Given the description of an element on the screen output the (x, y) to click on. 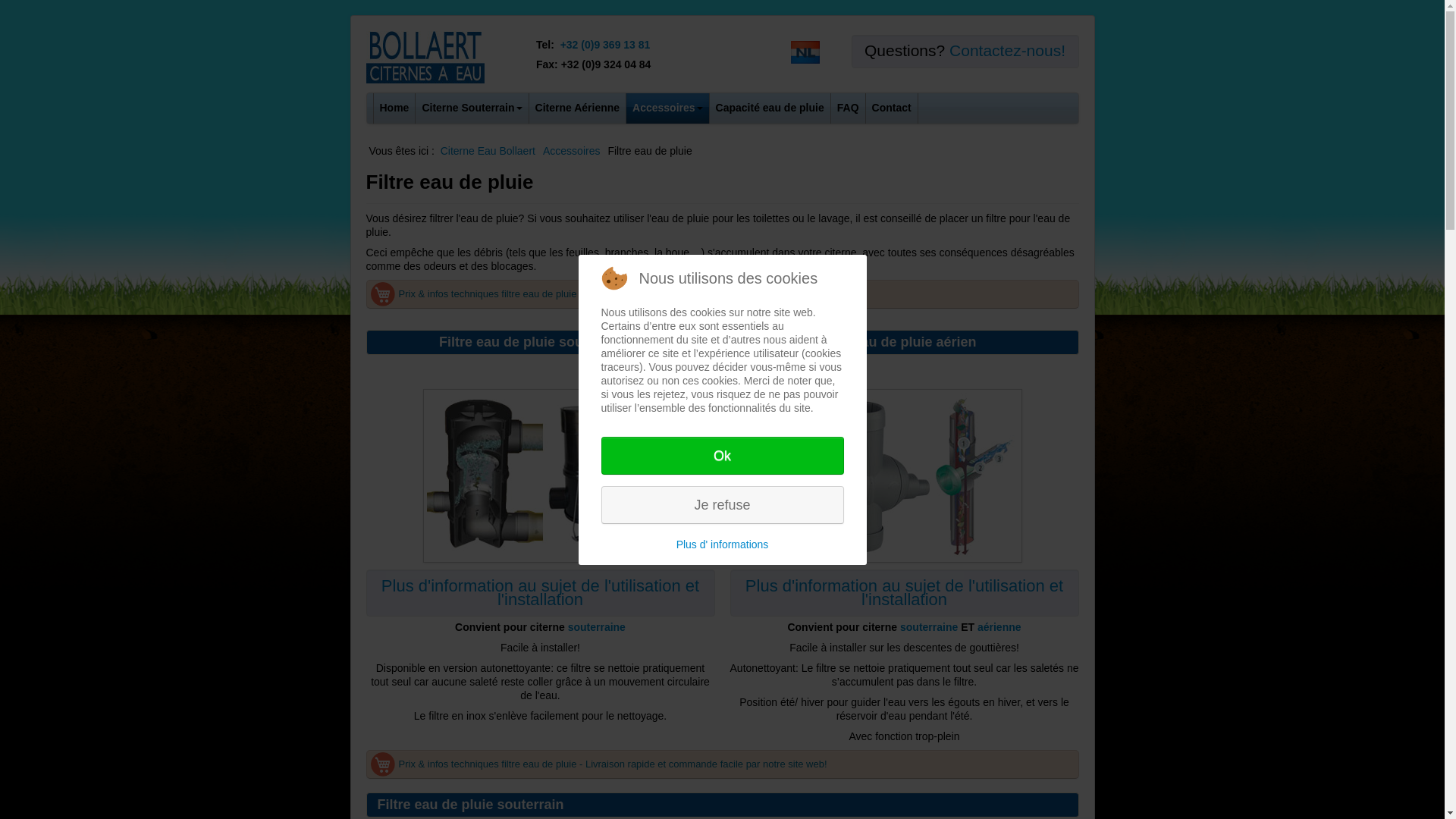
Home Element type: text (393, 108)
Contact Element type: text (891, 108)
Citerne Souterrain Element type: text (471, 108)
Je refuse Element type: text (721, 504)
souterraine Element type: text (928, 627)
FAQ Element type: text (848, 108)
Accessoires Element type: text (570, 150)
Accessoires Element type: text (667, 108)
+32 (0)9 369 13 81 Element type: text (605, 44)
Ok Element type: text (721, 455)
Citerne Eau Bollaert Element type: text (487, 150)
souterraine Element type: text (596, 627)
Plus d' informations Element type: text (722, 544)
Contactez-nous! Element type: text (1007, 50)
